Given the description of an element on the screen output the (x, y) to click on. 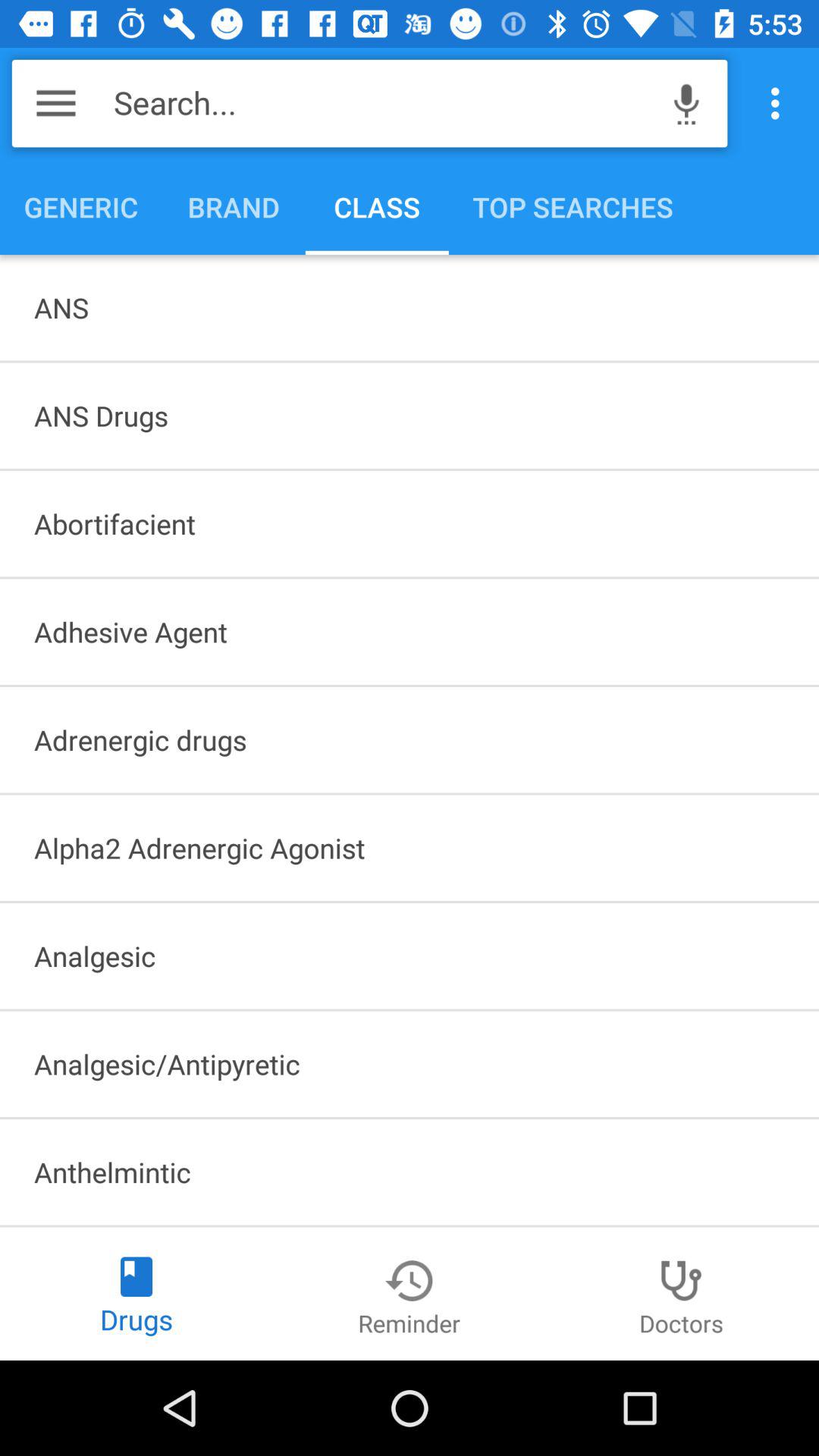
scroll until the adrenergic drugs icon (409, 739)
